Given the description of an element on the screen output the (x, y) to click on. 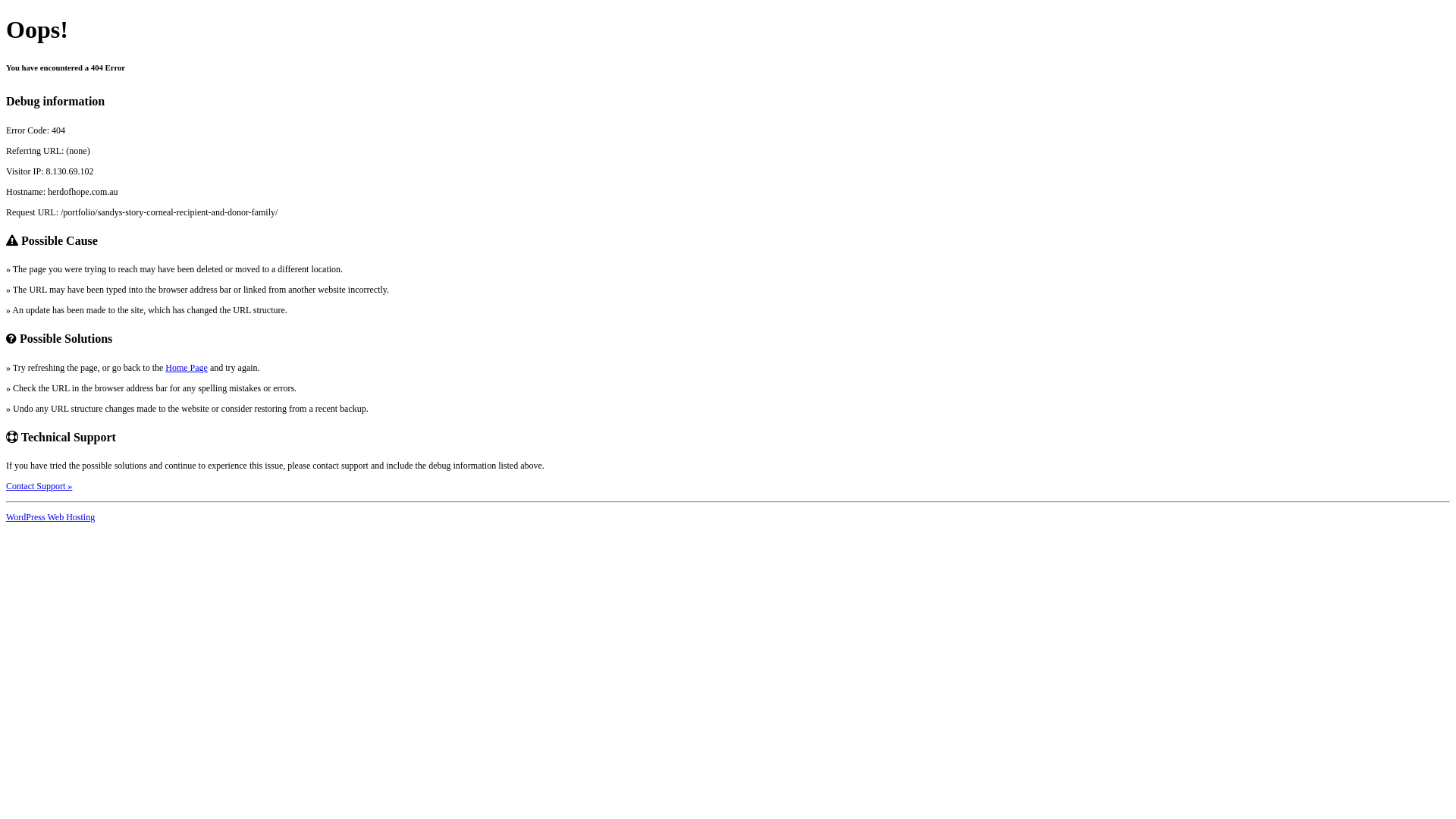
Home Page Element type: text (186, 367)
WordPress Web Hosting Element type: text (50, 516)
